Given the description of an element on the screen output the (x, y) to click on. 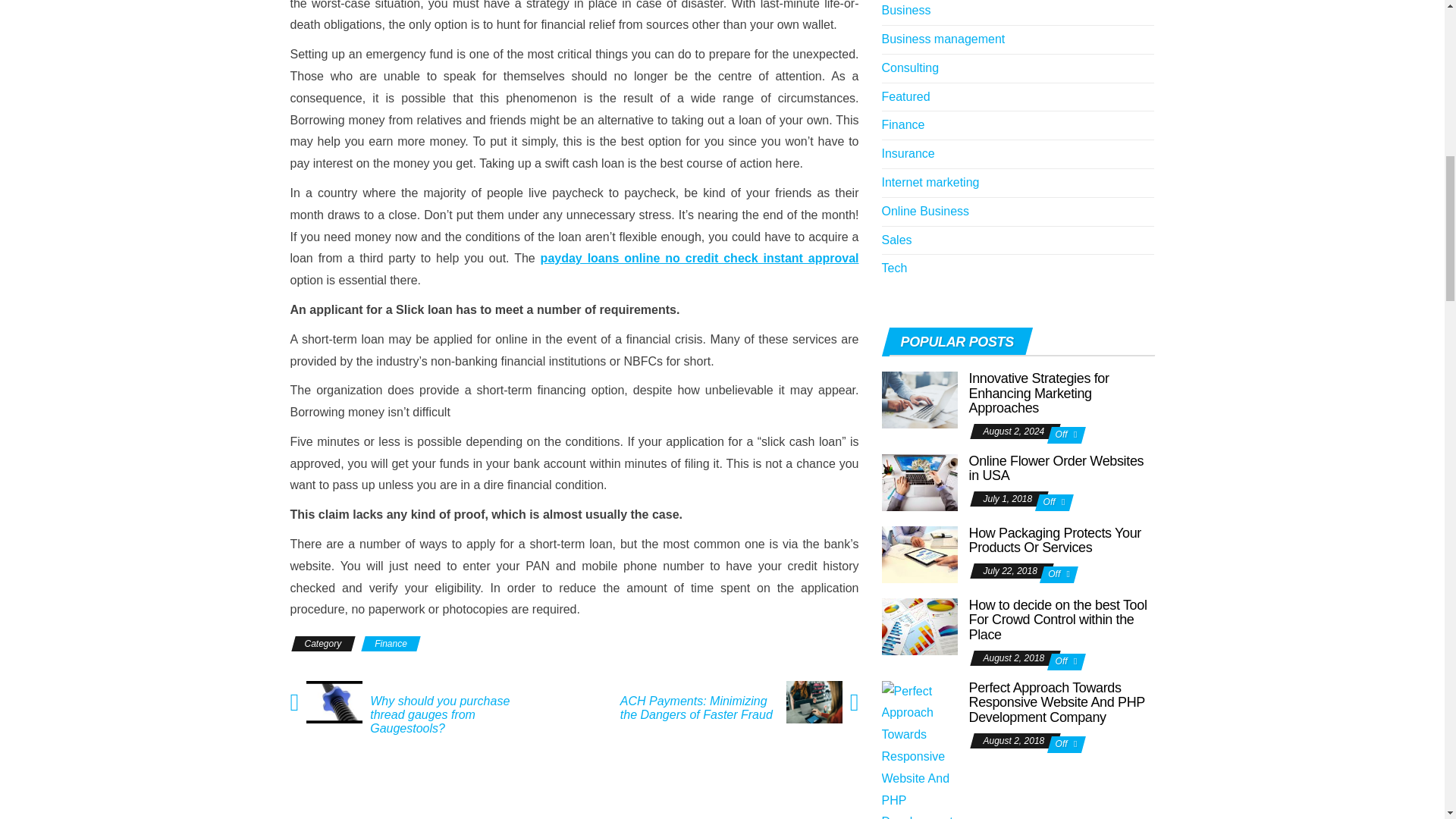
ACH Payments: Minimizing the Dangers of Faster Fraud (695, 707)
payday loans online no credit check instant approval (699, 257)
Why should you purchase thread gauges from Gaugestools? (452, 714)
Business (905, 10)
Finance (390, 643)
